Given the description of an element on the screen output the (x, y) to click on. 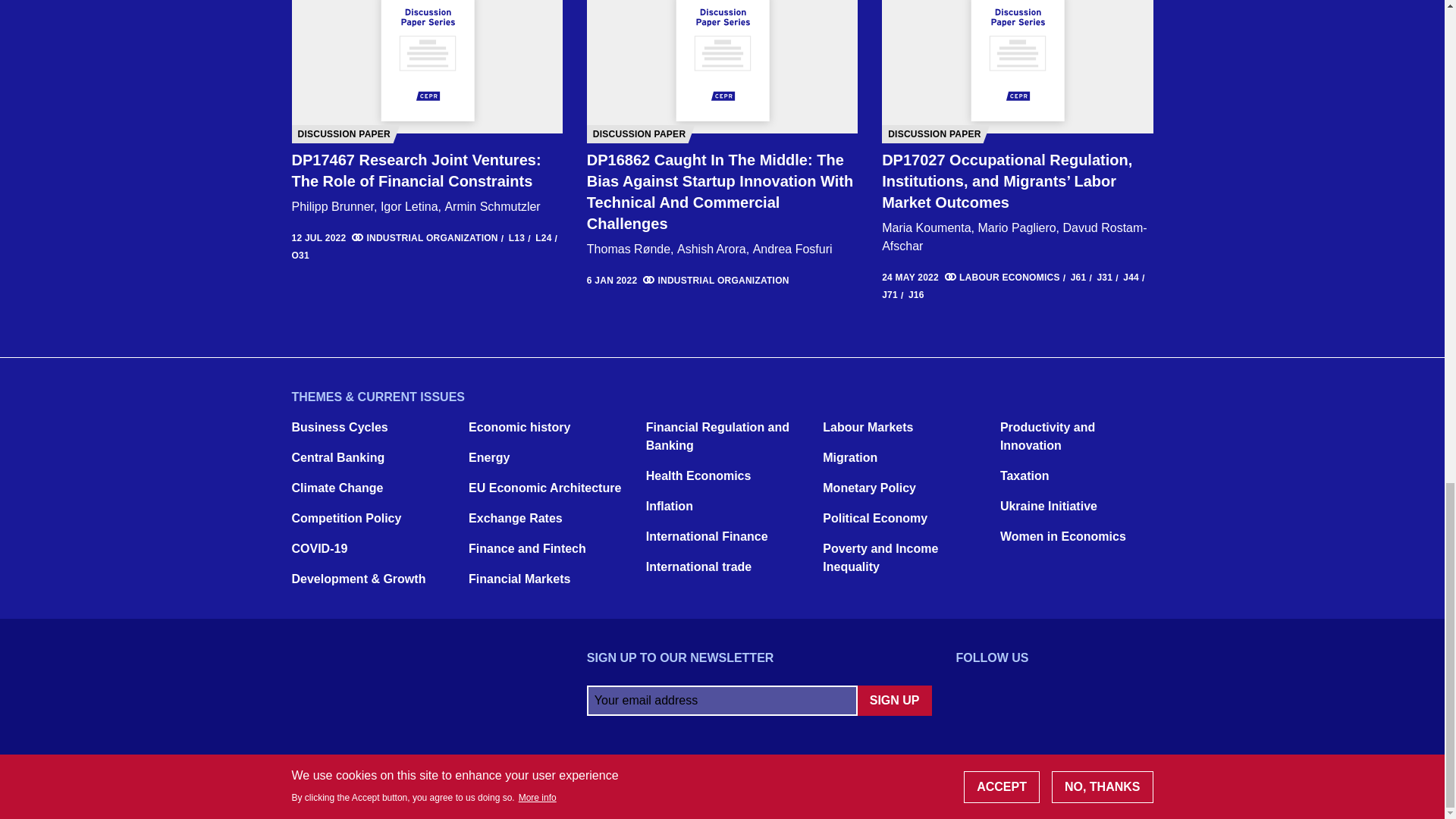
sign up (894, 700)
